Given the description of an element on the screen output the (x, y) to click on. 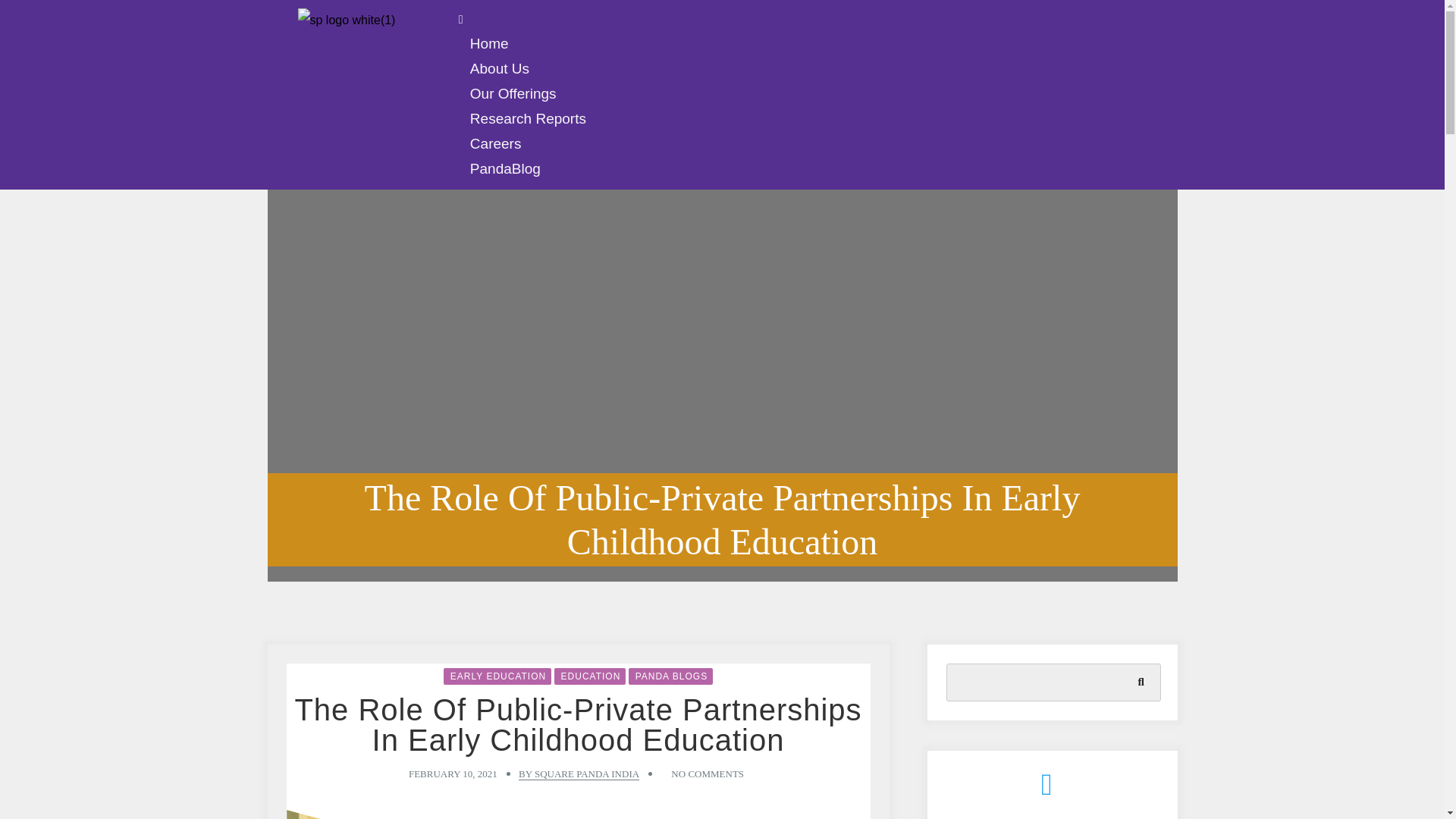
Careers (495, 143)
EARLY EDUCATION (497, 676)
Facebook (1008, 789)
Research Reports (527, 118)
EDUCATION (590, 676)
Home (488, 43)
PANDA BLOGS (670, 676)
BY SQUARE PANDA INDIA (578, 774)
Our Offerings (512, 93)
